Given the description of an element on the screen output the (x, y) to click on. 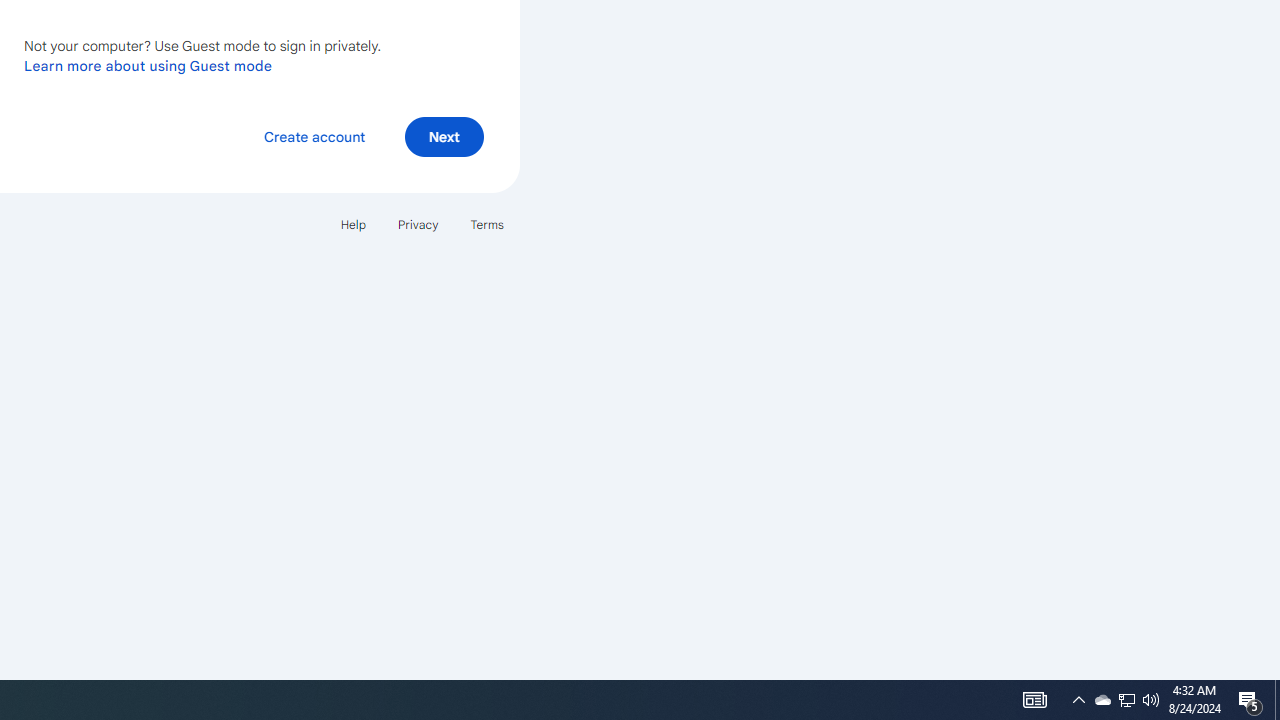
Learn more about using Guest mode (148, 65)
Create account (314, 135)
